Given the description of an element on the screen output the (x, y) to click on. 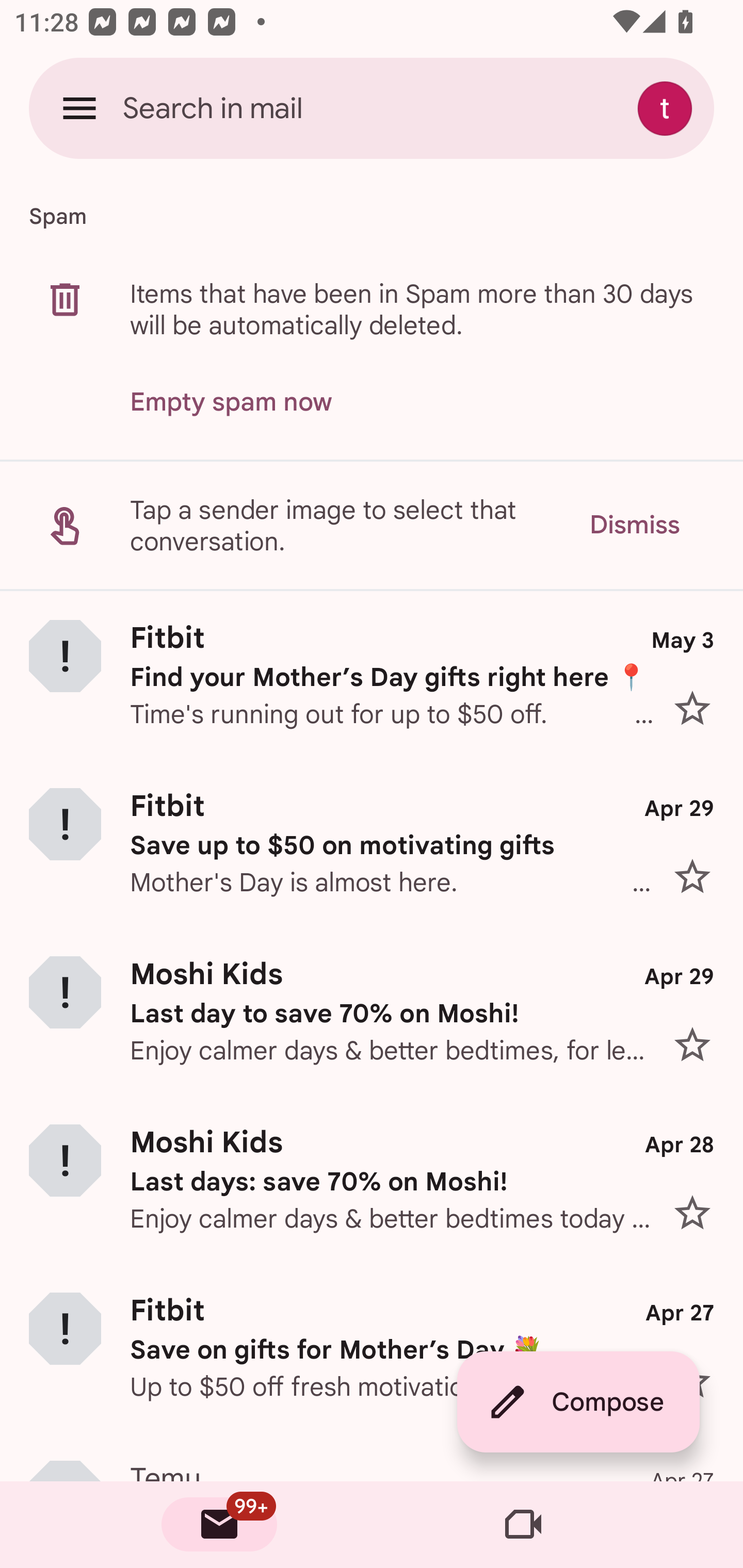
Open navigation drawer (79, 108)
Empty spam now (230, 402)
Dismiss Dismiss tip (634, 525)
Compose (577, 1401)
Meet (523, 1524)
